Given the description of an element on the screen output the (x, y) to click on. 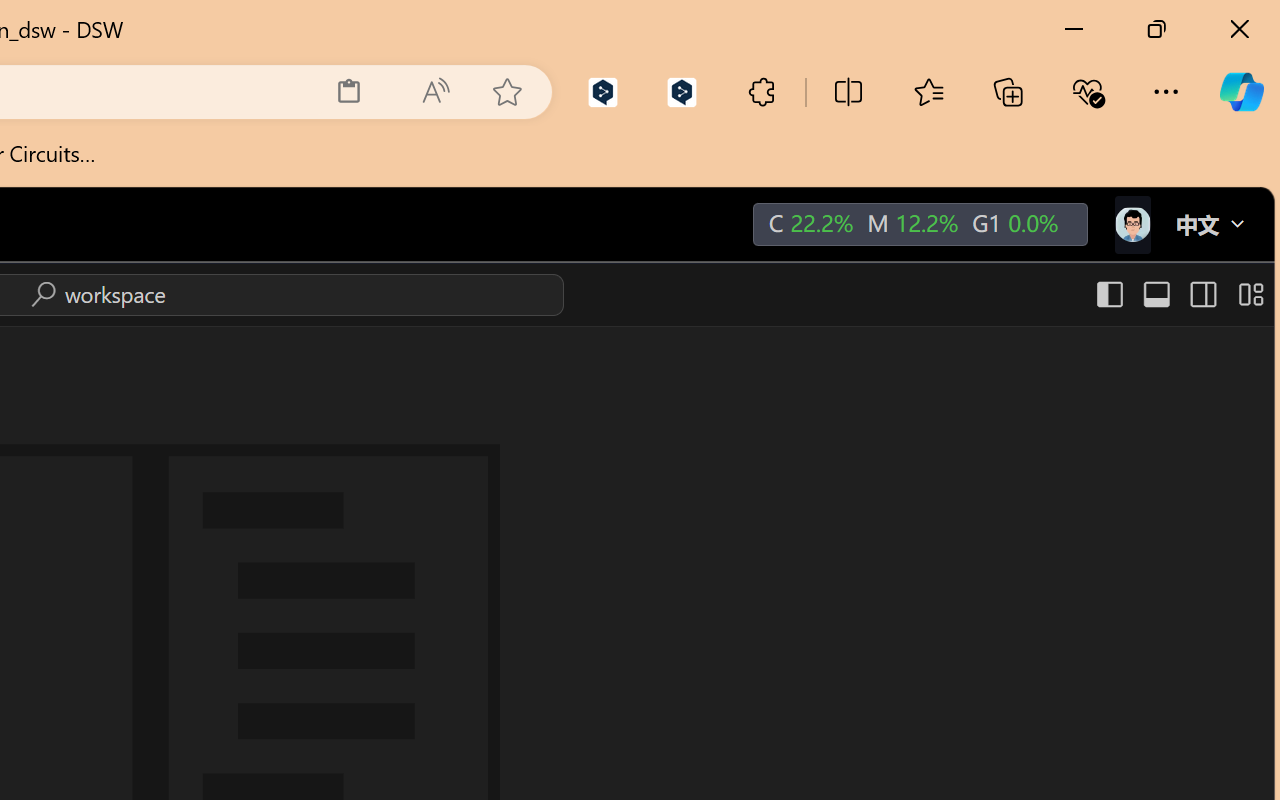
icon (1131, 224)
icon (1131, 220)
Toggle Secondary Side Bar (Ctrl+Alt+B) (1201, 294)
Class: next-menu next-hoz widgets--iconMenu--BFkiHRM (1131, 225)
Class: actions-container (94, 294)
Customize Layout... (1248, 294)
